Given the description of an element on the screen output the (x, y) to click on. 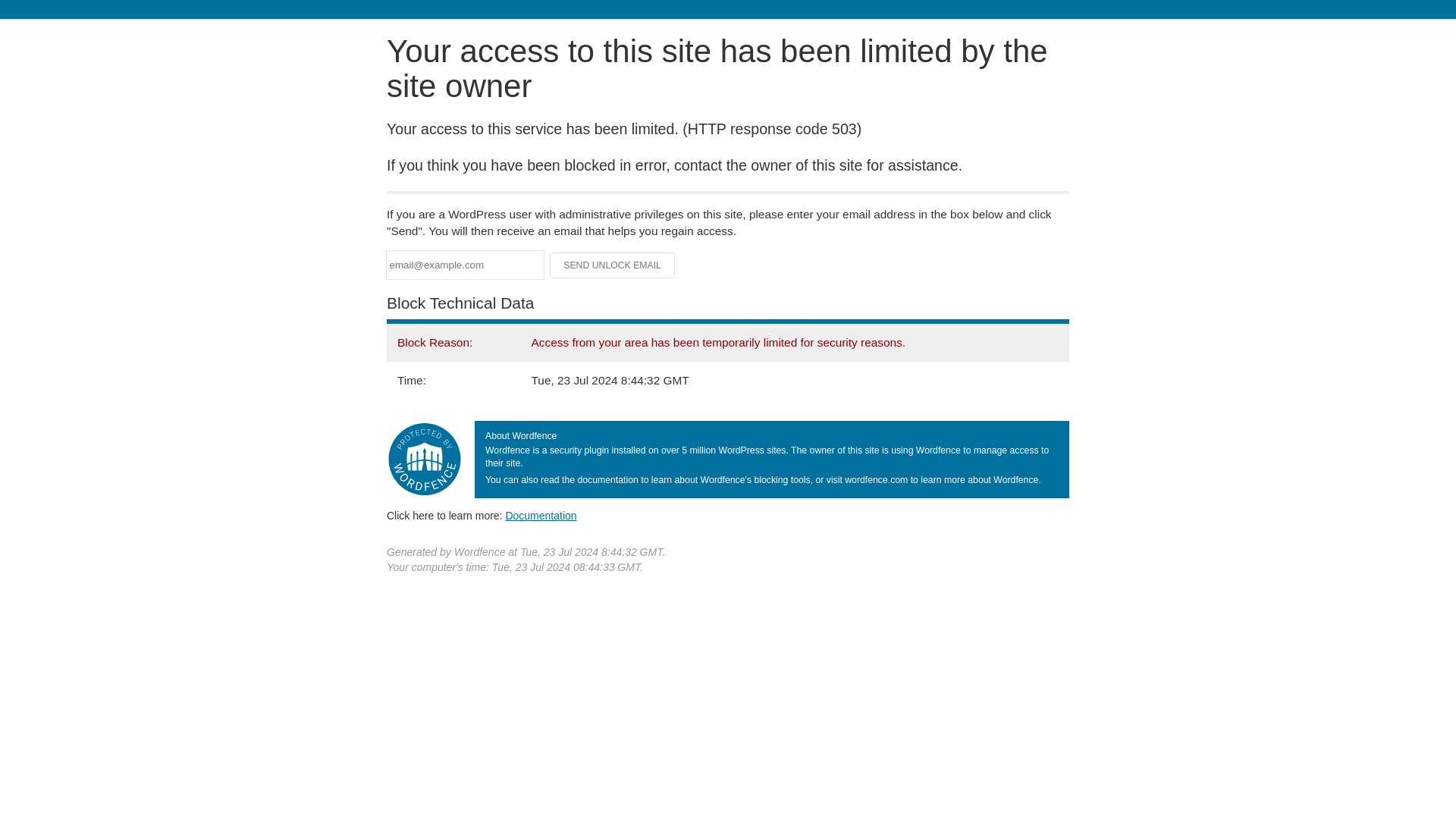
Send Unlock Email (612, 265)
Documentation (540, 515)
Send Unlock Email (612, 265)
